Given the description of an element on the screen output the (x, y) to click on. 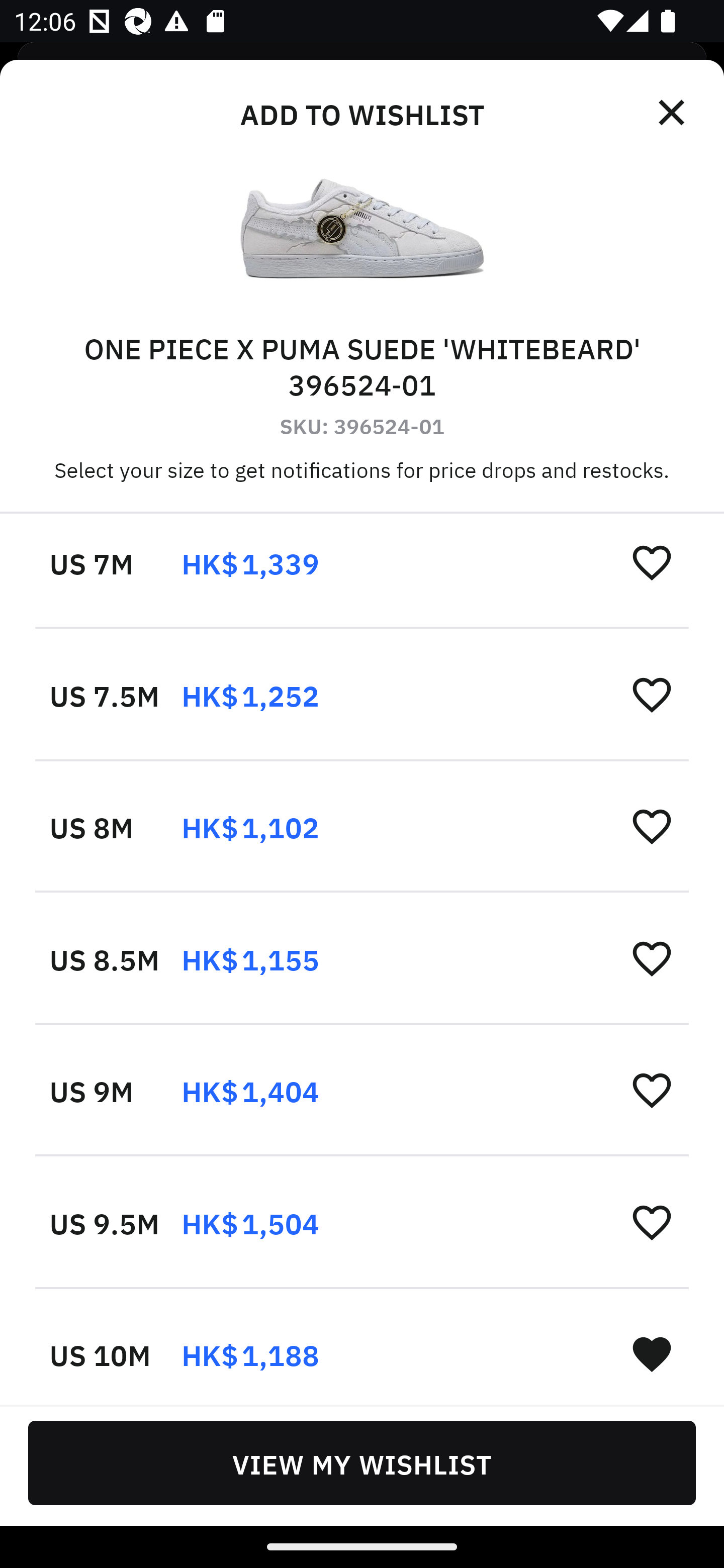
 (672, 112)
󰋕 (651, 561)
󰋕 (651, 693)
󰋕 (651, 825)
󰋕 (651, 957)
󰋕 (651, 1089)
󰋕 (651, 1221)
󰋑 (651, 1353)
VIEW MY WISHLIST (361, 1462)
